Given the description of an element on the screen output the (x, y) to click on. 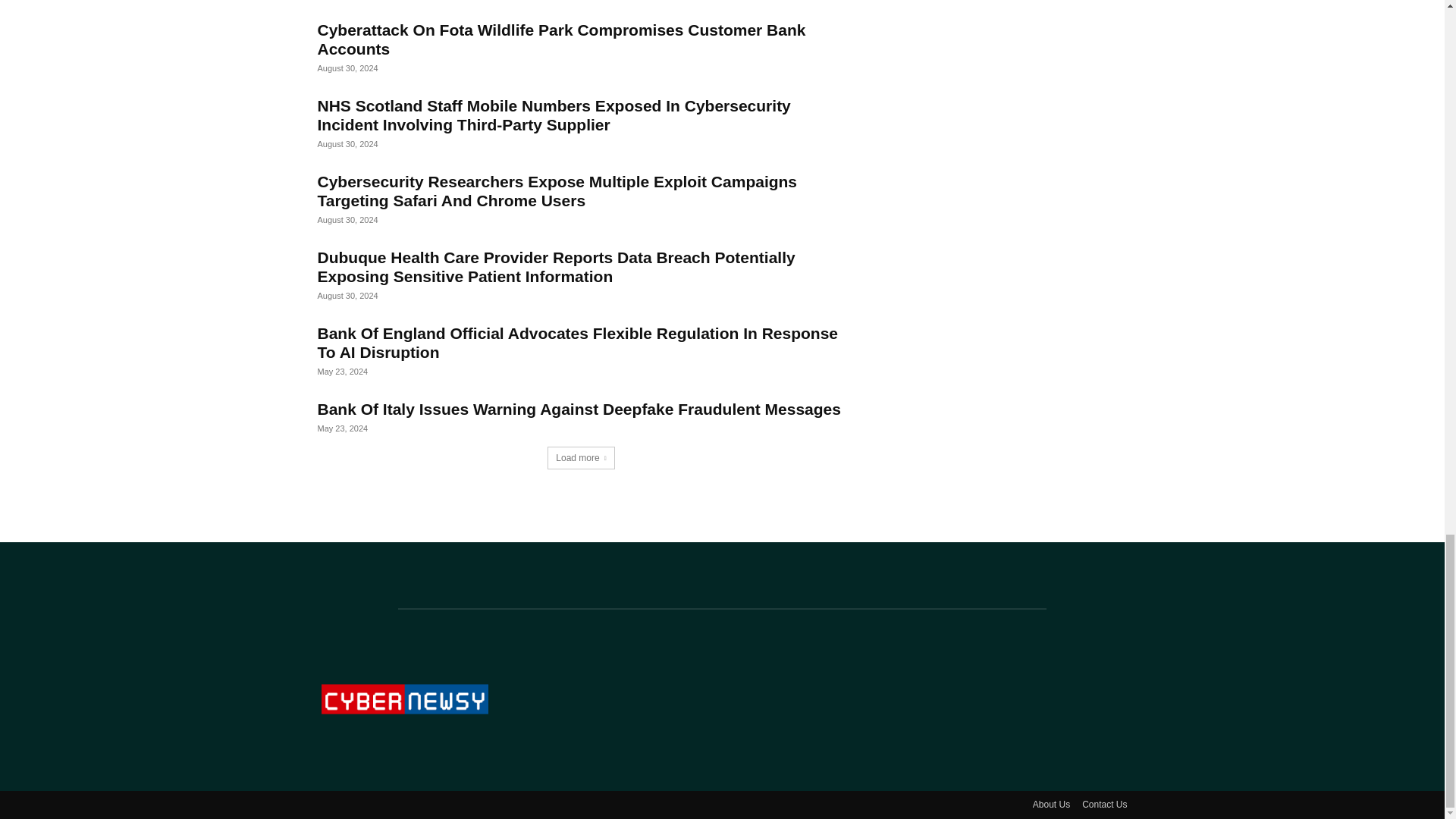
Load more (580, 457)
